Given the description of an element on the screen output the (x, y) to click on. 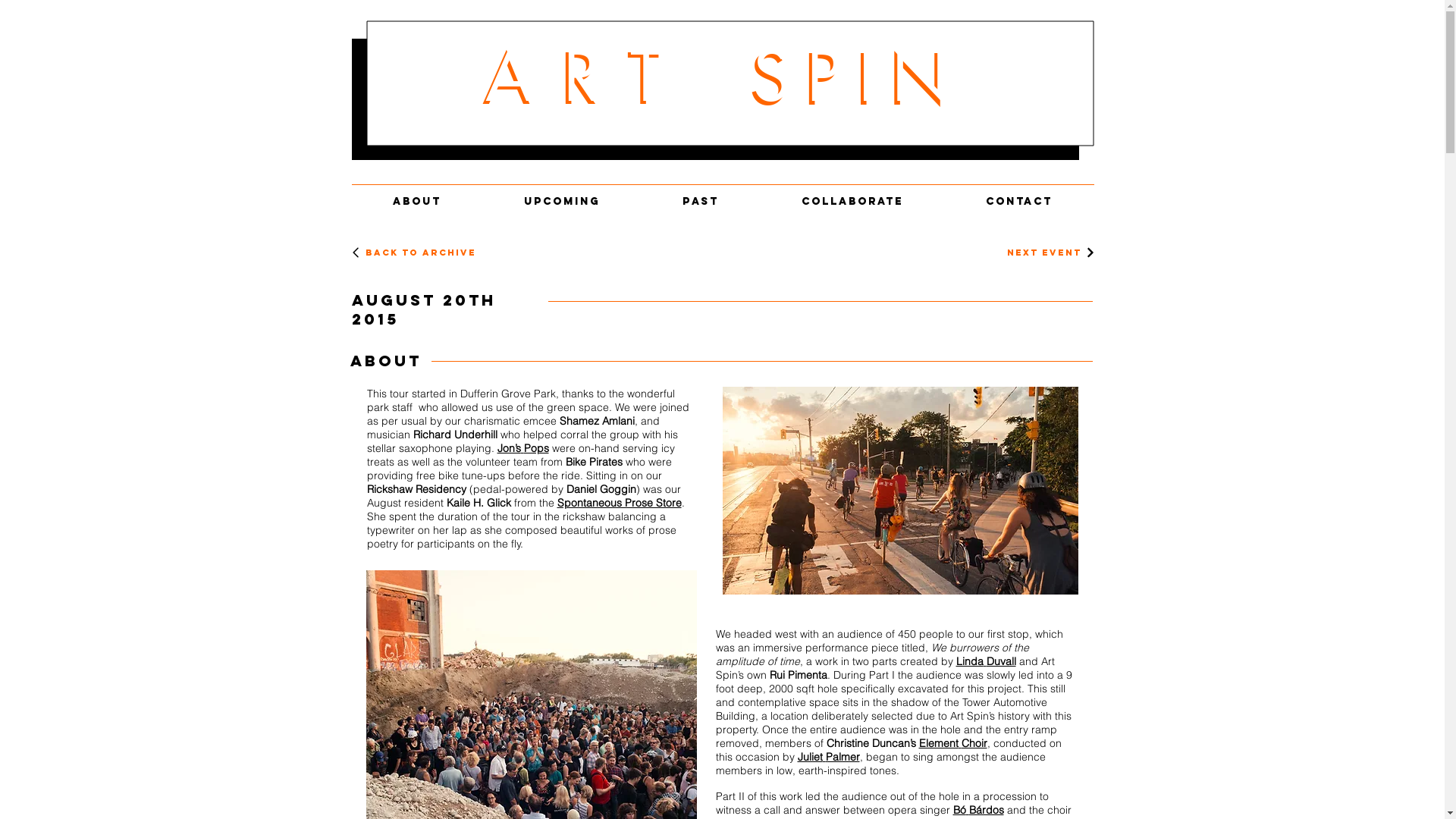
Linda Duvall Element type: text (985, 661)
Spontaneous Prose Store Element type: text (618, 502)
Next Event Element type: text (1051, 252)
Element Choir Element type: text (953, 742)
UPCOMING Element type: text (561, 194)
ART Element type: text (589, 76)
CONTACT Element type: text (1019, 194)
ABOUT Element type: text (417, 194)
Back to archive Element type: text (425, 252)
Juliet Palmer Element type: text (828, 756)
PAST Element type: text (700, 194)
SPIN Element type: text (859, 76)
